Given the description of an element on the screen output the (x, y) to click on. 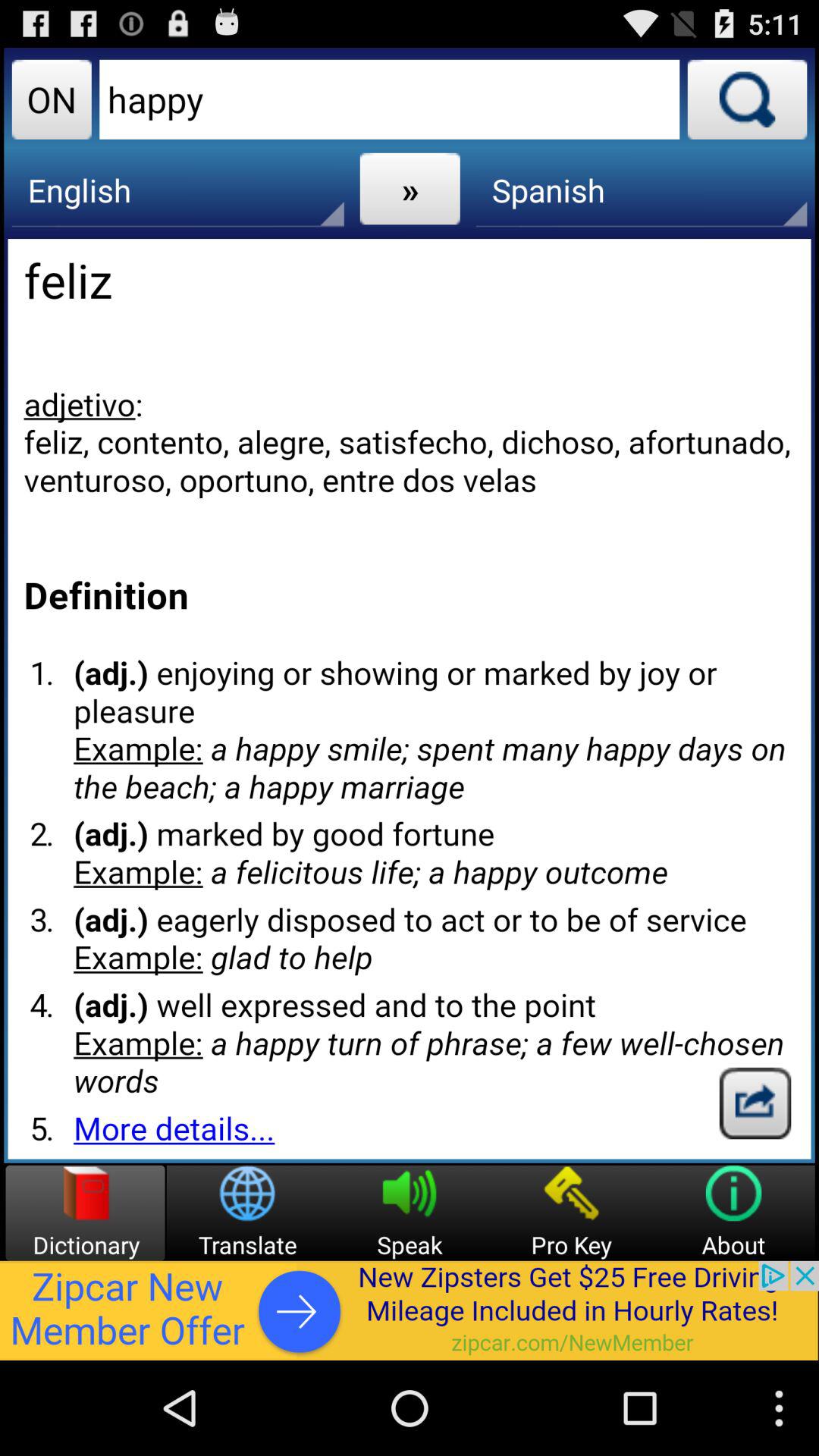
open in browser (755, 1103)
